Given the description of an element on the screen output the (x, y) to click on. 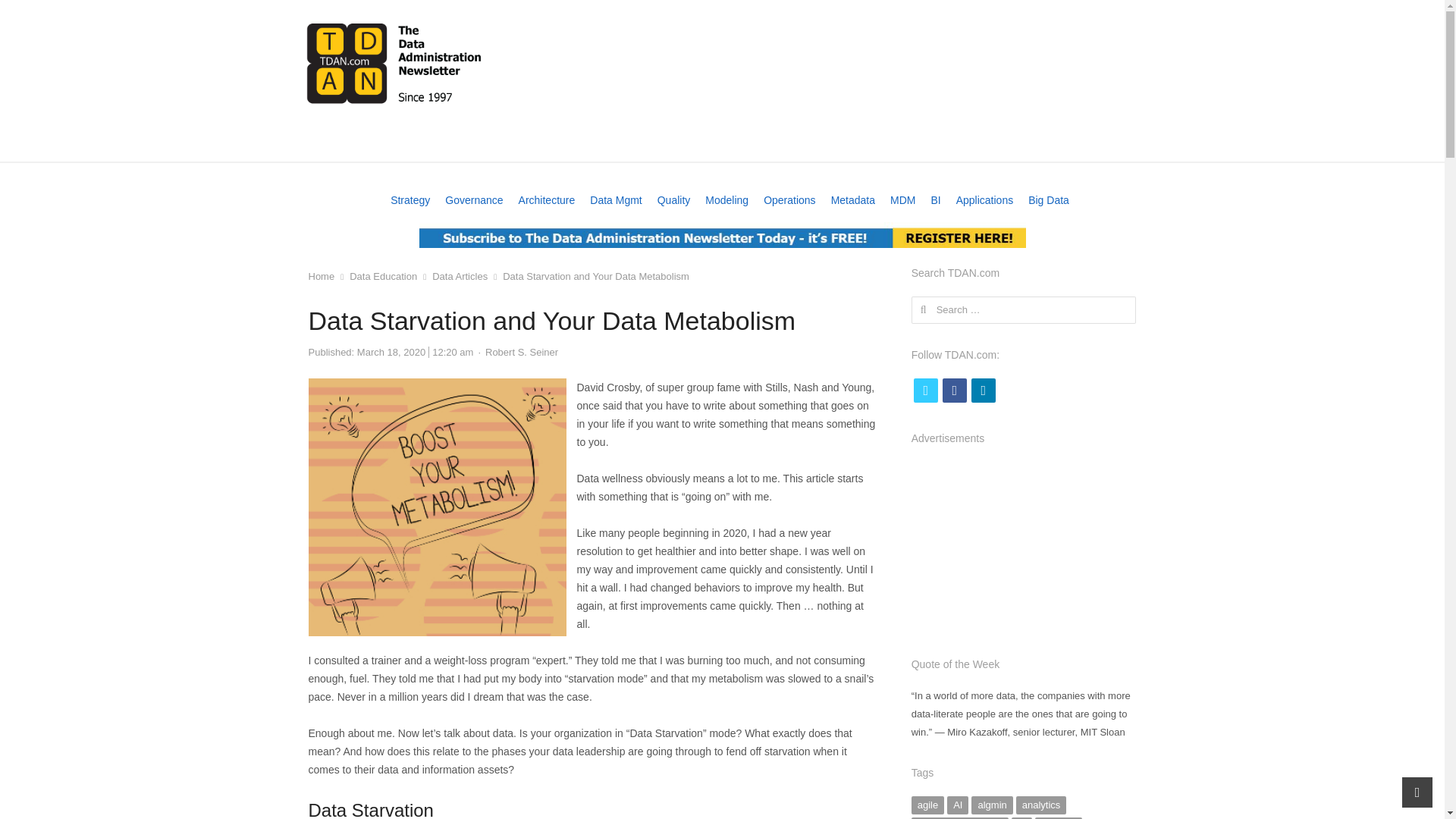
Metadata (853, 200)
Strategy (409, 200)
Data Articles (459, 276)
Twitter (925, 390)
Subscribe to TDAN.com (722, 234)
Quality (674, 200)
scroll to top (1417, 792)
Conferences (395, 144)
TDAN.com (394, 63)
Columns (782, 144)
